Given the description of an element on the screen output the (x, y) to click on. 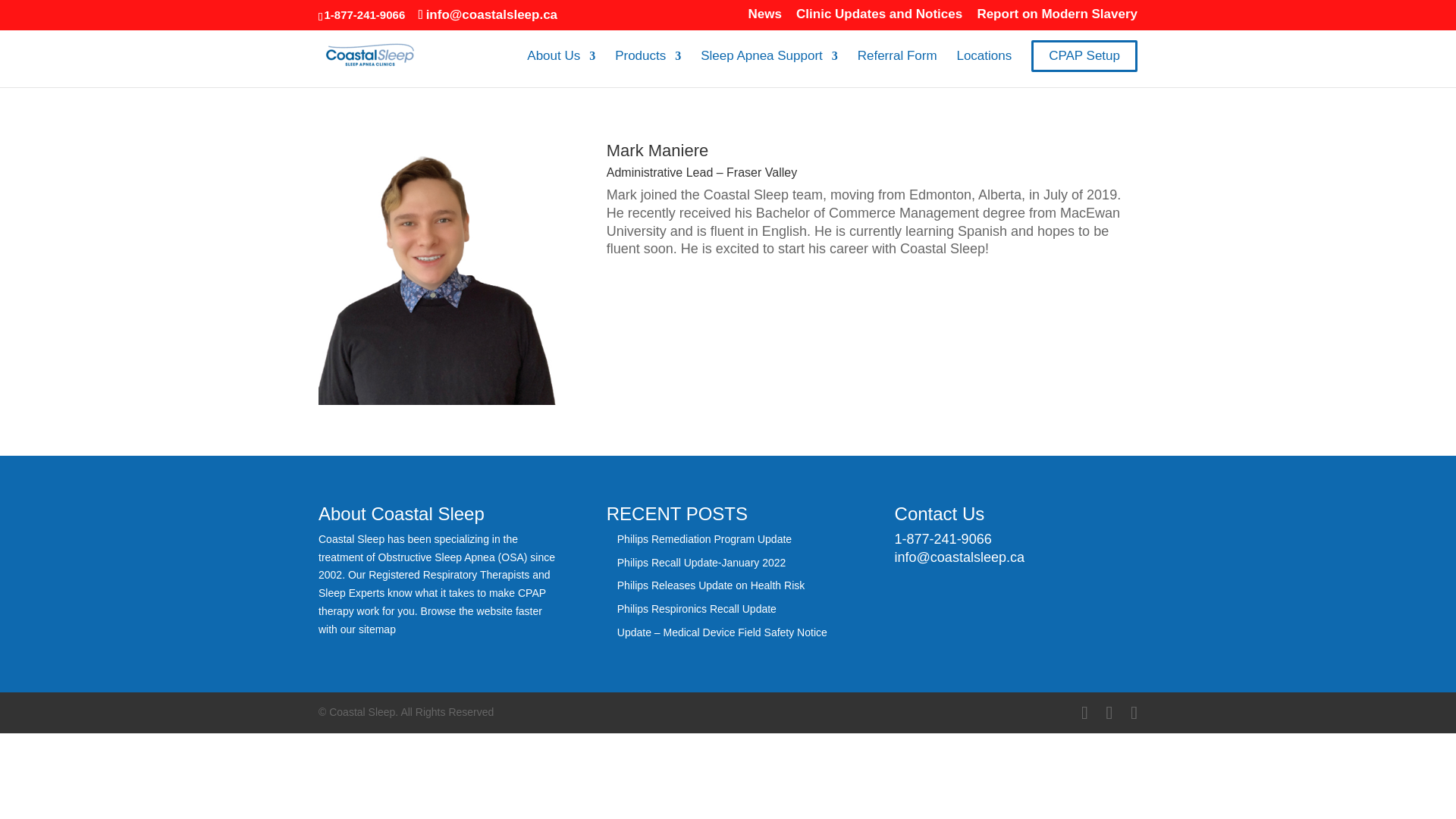
News (764, 18)
Locations (983, 67)
About Us (561, 67)
Referral Form (897, 67)
Products (647, 67)
Clinic Updates and Notices (879, 18)
Sleep Apnea Support (769, 67)
Report on Modern Slavery (1056, 18)
CPAP Setup (1083, 56)
